Given the description of an element on the screen output the (x, y) to click on. 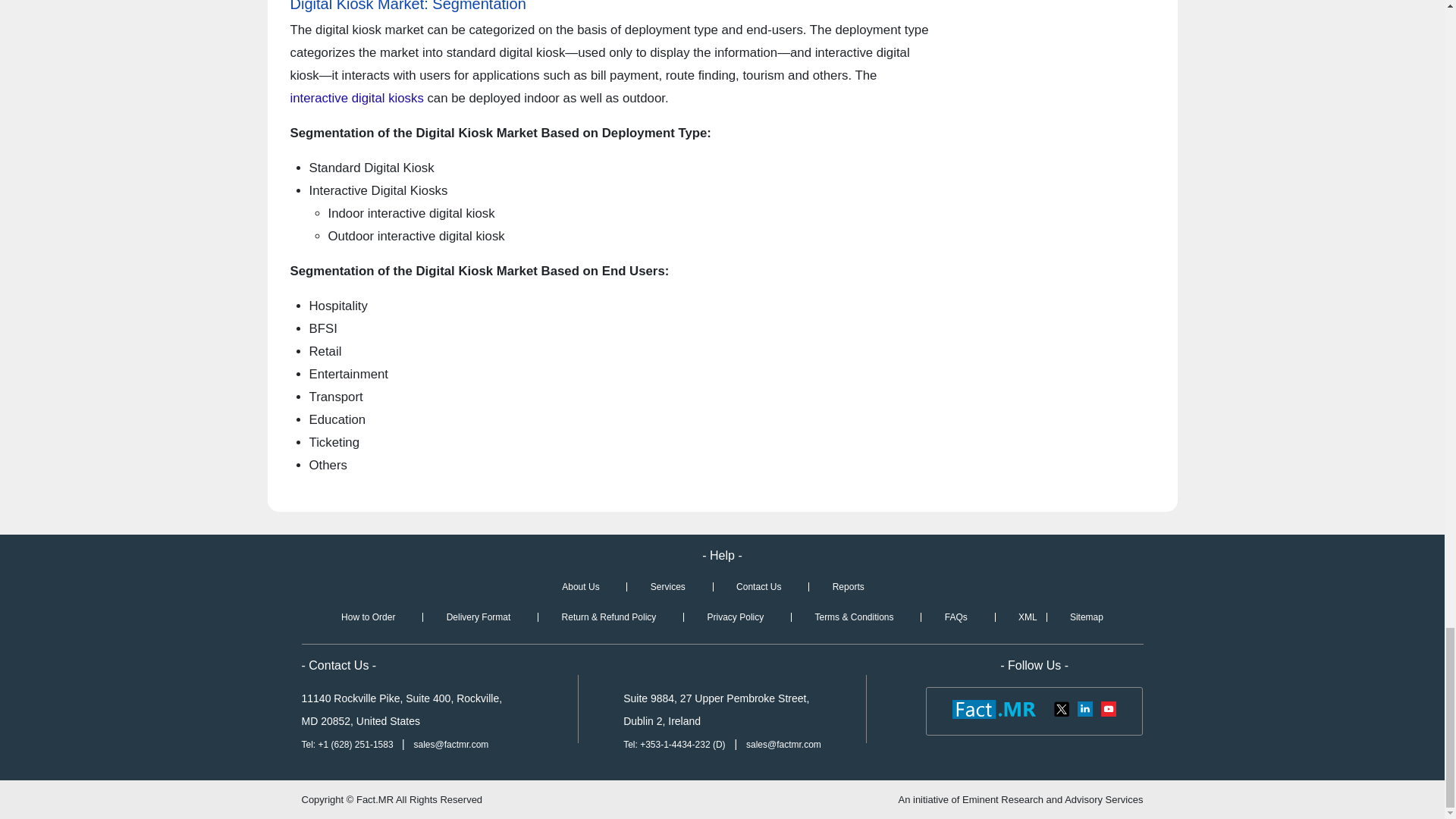
interactive digital kiosks (356, 97)
